Given the description of an element on the screen output the (x, y) to click on. 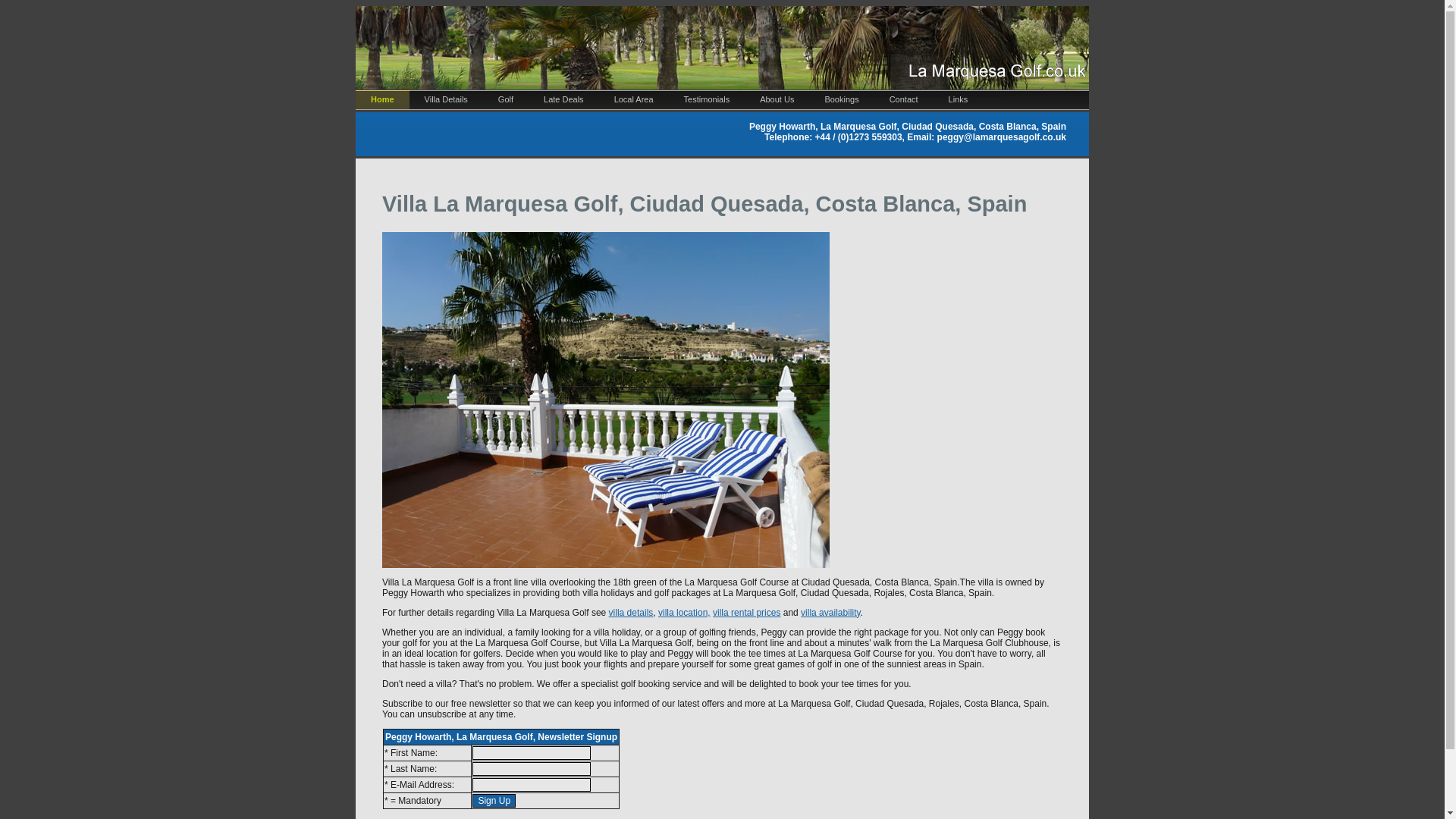
Testimonials (706, 99)
Sign Up (493, 800)
Home (382, 99)
Local Area (633, 99)
About Us (776, 99)
villa details (630, 612)
Golf (505, 99)
Villa Details (446, 99)
Contact (904, 99)
villa rental prices (746, 612)
